Given the description of an element on the screen output the (x, y) to click on. 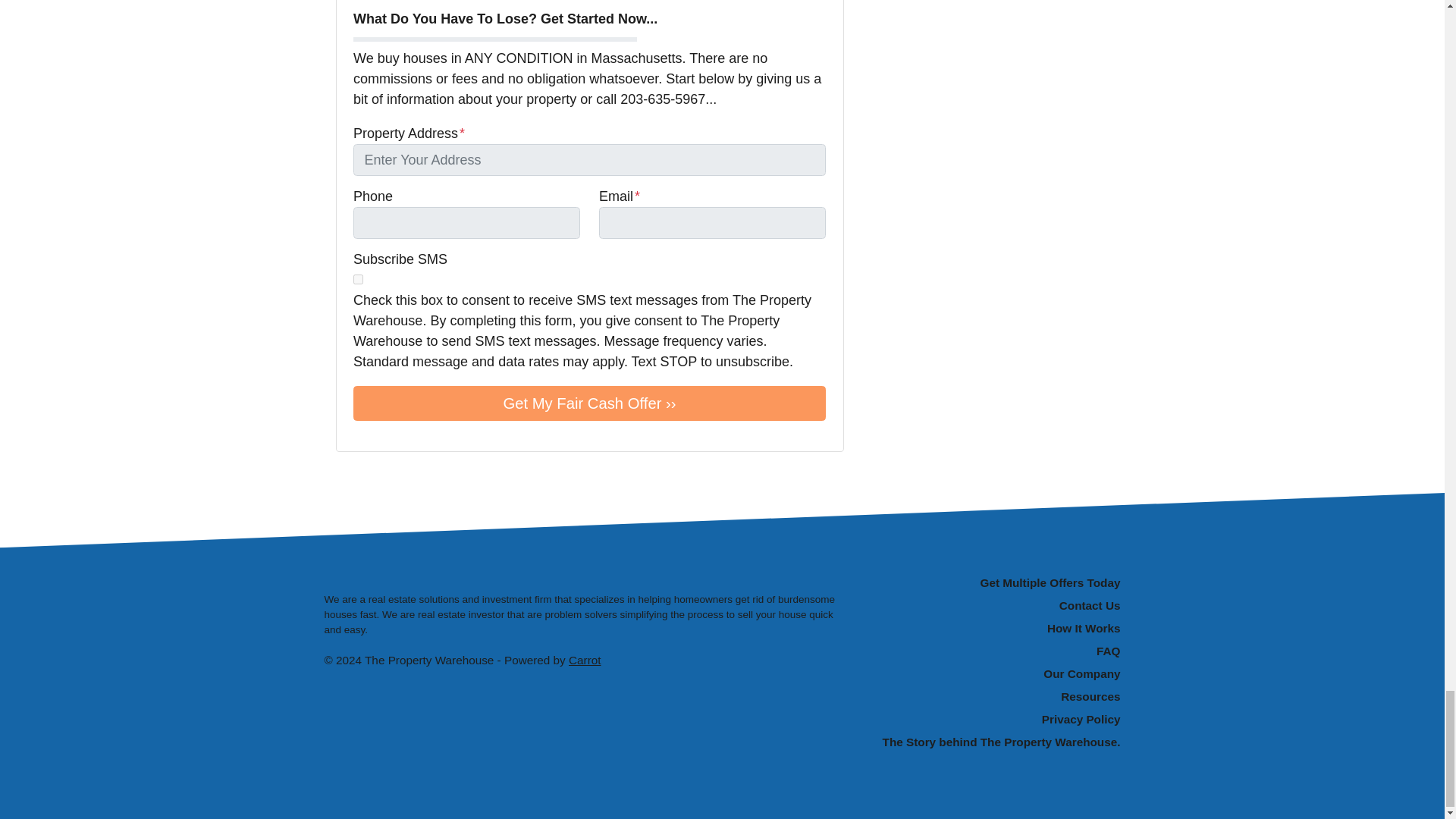
The Story behind The Property Warehouse. (995, 743)
Contact Us (995, 605)
Privacy Policy (995, 720)
How It Works (995, 628)
Resources (995, 697)
Our Company (995, 673)
1 (357, 279)
Carrot (585, 659)
Get Multiple Offers Today (995, 582)
FAQ (995, 650)
